Given the description of an element on the screen output the (x, y) to click on. 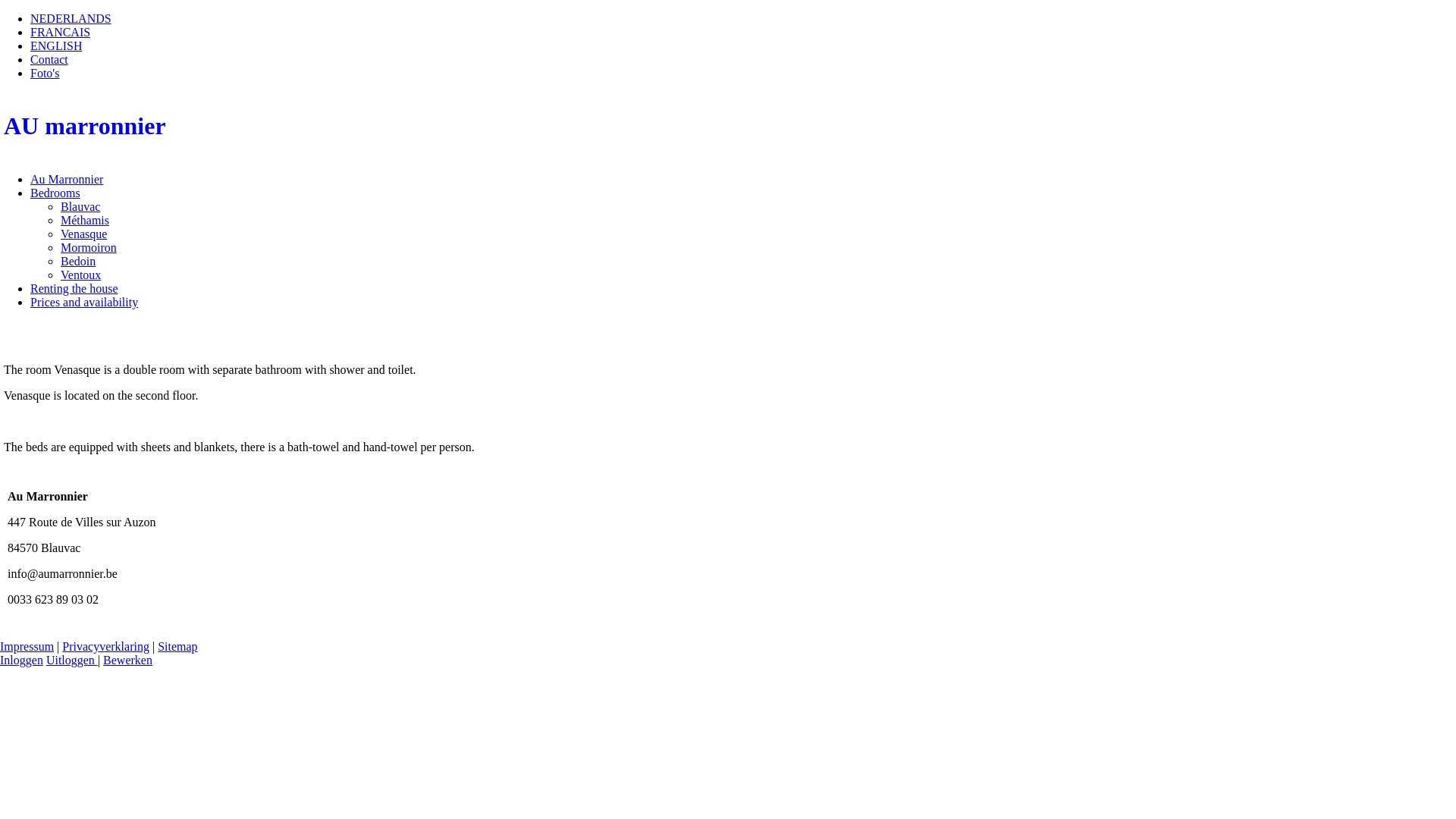
Blauvac Element type: text (80, 206)
Renting the house Element type: text (74, 288)
Au Marronnier Element type: text (66, 178)
Bewerken Element type: text (127, 659)
ENGLISH Element type: text (55, 45)
Mormoiron Element type: text (88, 247)
Ventoux Element type: text (80, 274)
Inloggen Element type: text (21, 659)
Contact Element type: text (49, 59)
Uitloggen Element type: text (71, 659)
FRANCAIS Element type: text (60, 31)
Bedoin Element type: text (77, 260)
AU marronnier Element type: text (727, 126)
NEDERLANDS Element type: text (70, 18)
Impressum Element type: text (26, 646)
Sitemap Element type: text (177, 646)
Prices and availability Element type: text (84, 301)
Foto's Element type: text (44, 72)
Bedrooms Element type: text (55, 192)
Privacyverklaring Element type: text (105, 646)
Venasque Element type: text (83, 233)
